Given the description of an element on the screen output the (x, y) to click on. 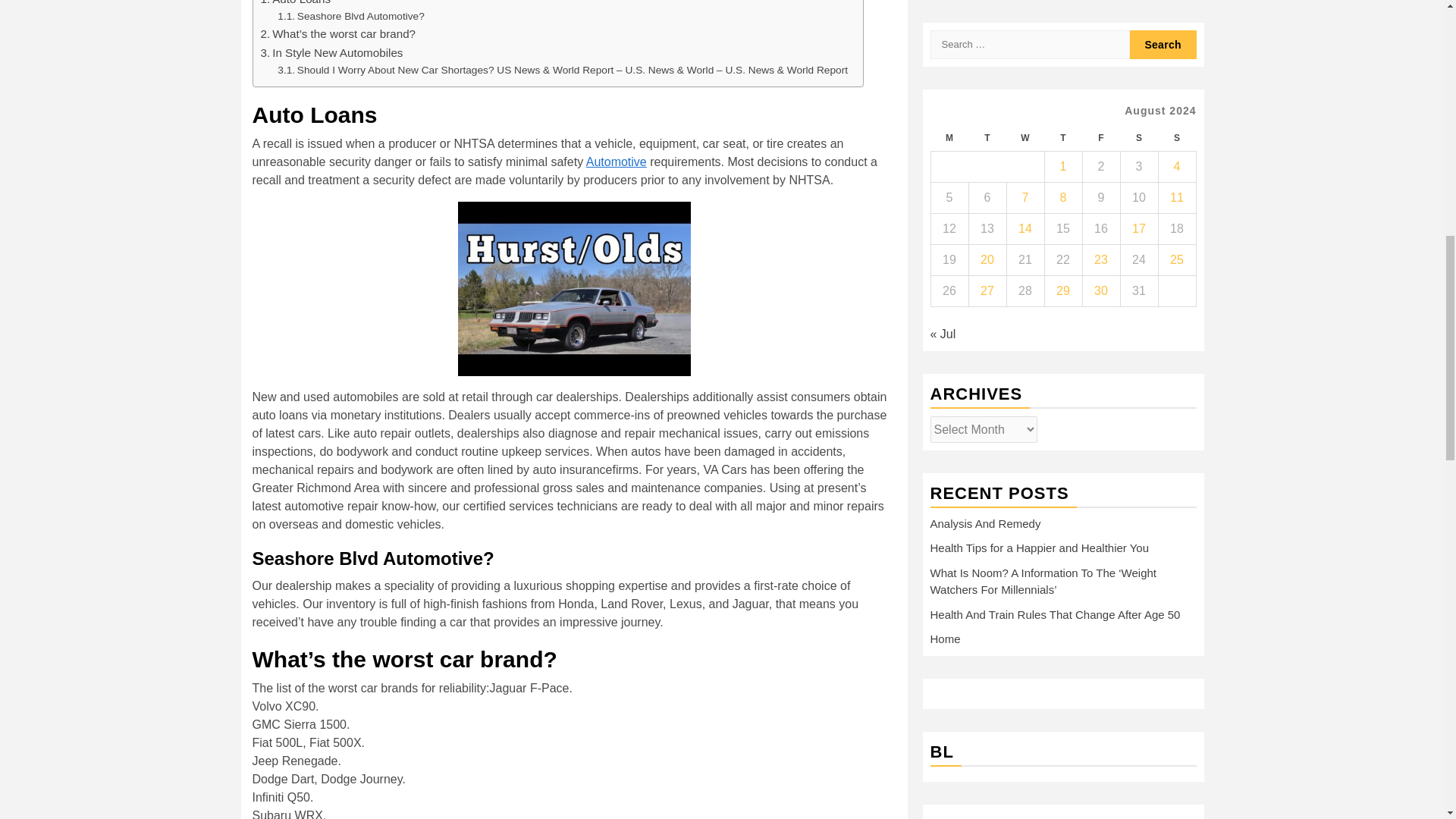
Automotive (616, 161)
Auto Loans (295, 4)
In Style New Automobiles (331, 53)
Seashore Blvd Automotive? (351, 16)
Auto Loans (295, 4)
In Style New Automobiles (331, 53)
Seashore Blvd Automotive? (351, 16)
